Given the description of an element on the screen output the (x, y) to click on. 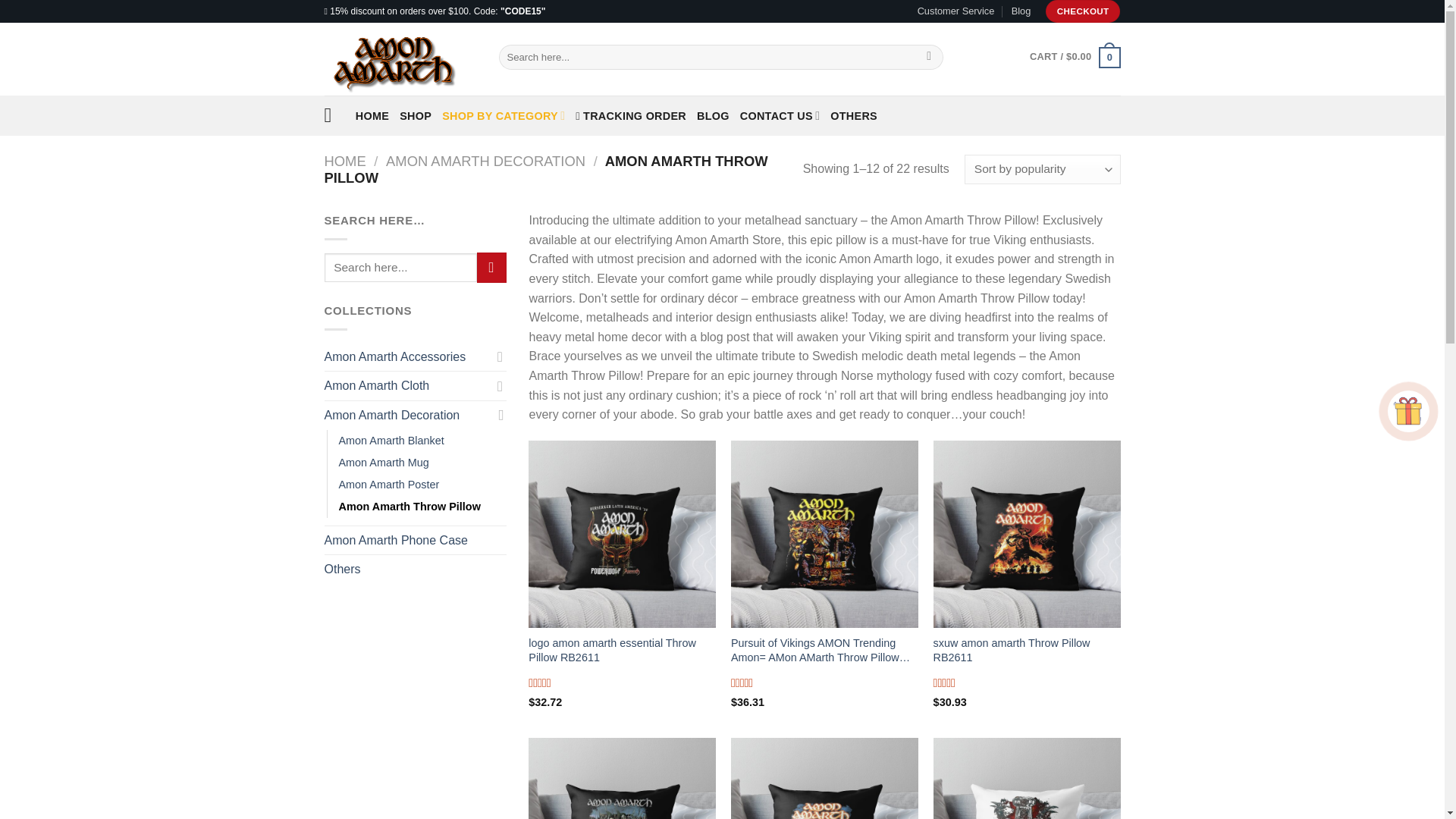
Blog (1020, 11)
Customer Service (955, 11)
SHOP (414, 115)
HOME (371, 115)
CHECKOUT (1083, 11)
SHOP BY CATEGORY (503, 115)
Search (929, 57)
Cart (1074, 56)
